Given the description of an element on the screen output the (x, y) to click on. 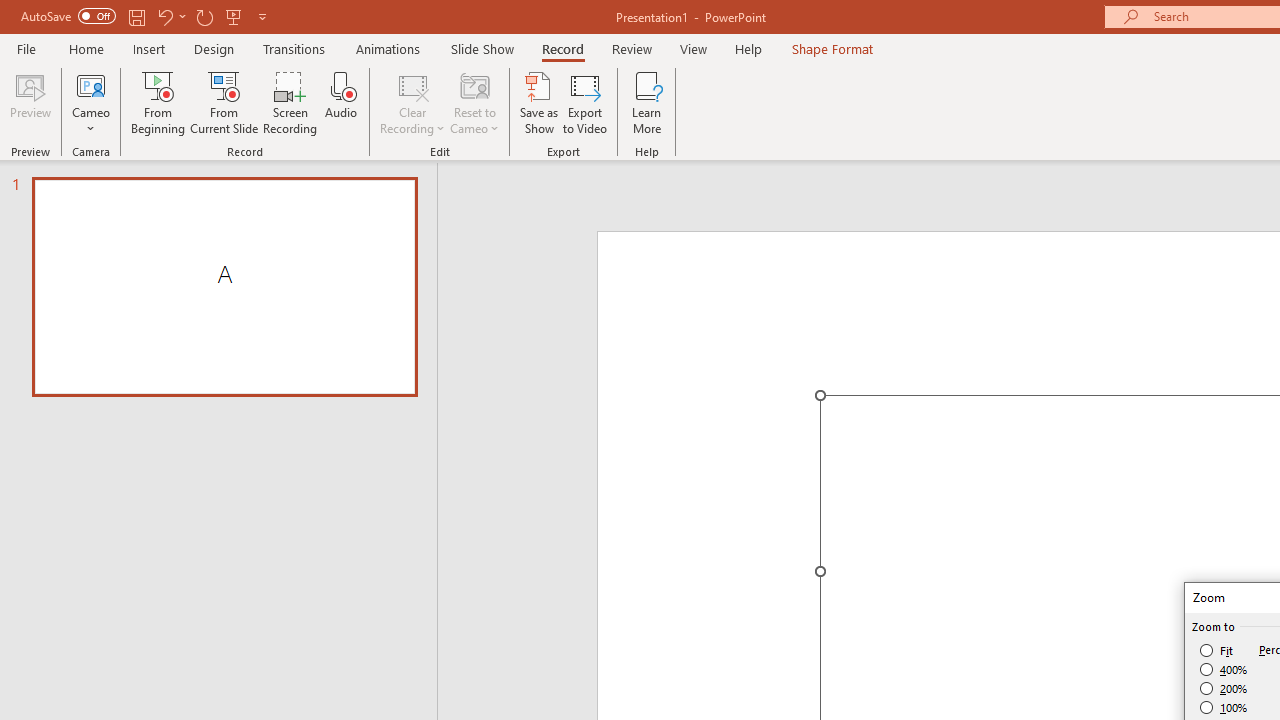
400% (1224, 669)
Clear Recording (412, 102)
Reset to Cameo (474, 102)
